Given the description of an element on the screen output the (x, y) to click on. 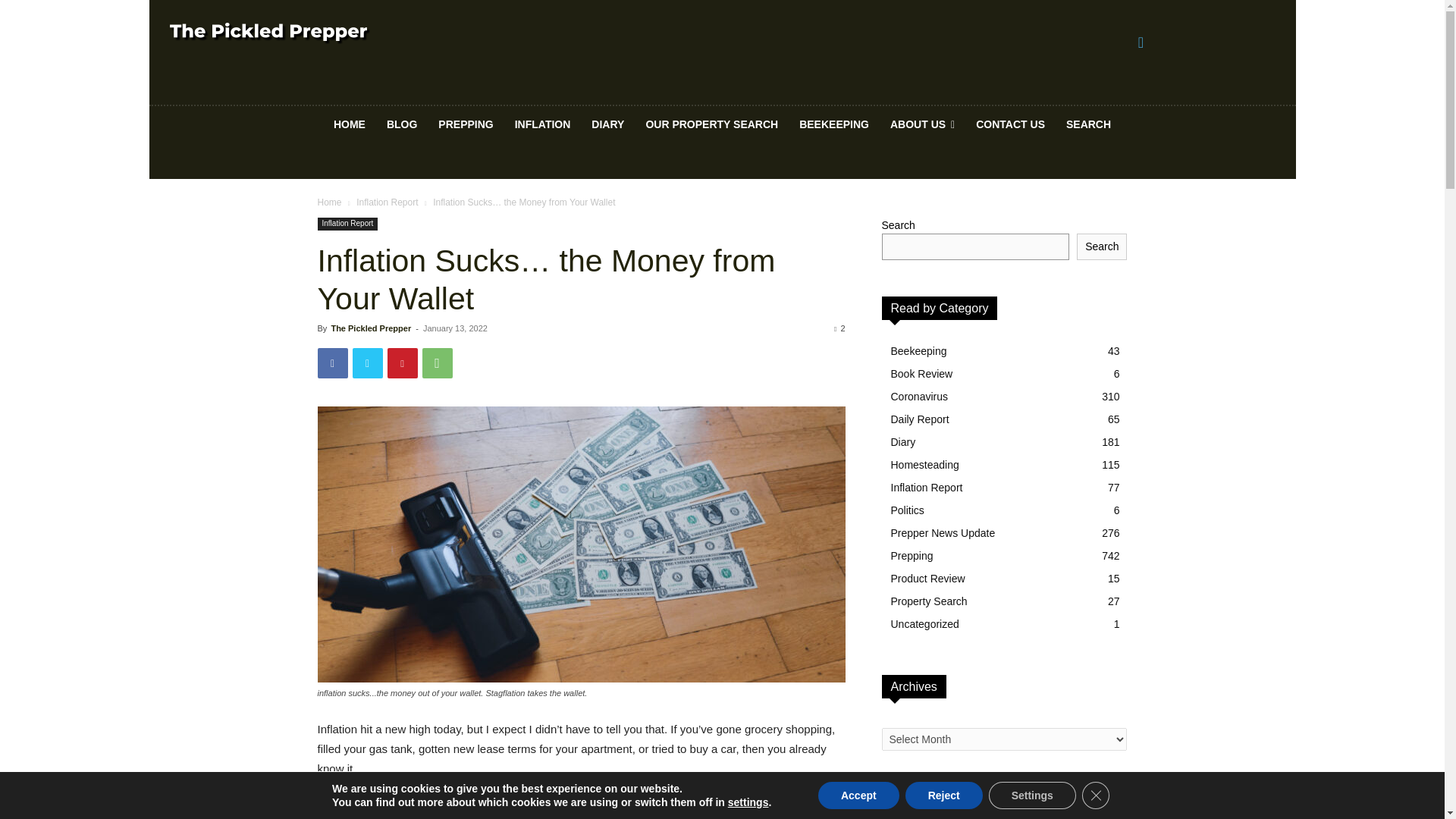
WhatsApp (436, 363)
HOME (349, 124)
Home (328, 202)
PREPPING (465, 124)
View all posts in Inflation Report (386, 202)
Facebook (332, 363)
CONTACT US (1010, 124)
The Pickled Prepper (370, 327)
DIARY (607, 124)
Inflation Report (386, 202)
Twitter (366, 363)
The Pickled Prepper Blog (376, 33)
SEARCH (1088, 124)
Pinterest (401, 363)
